Given the description of an element on the screen output the (x, y) to click on. 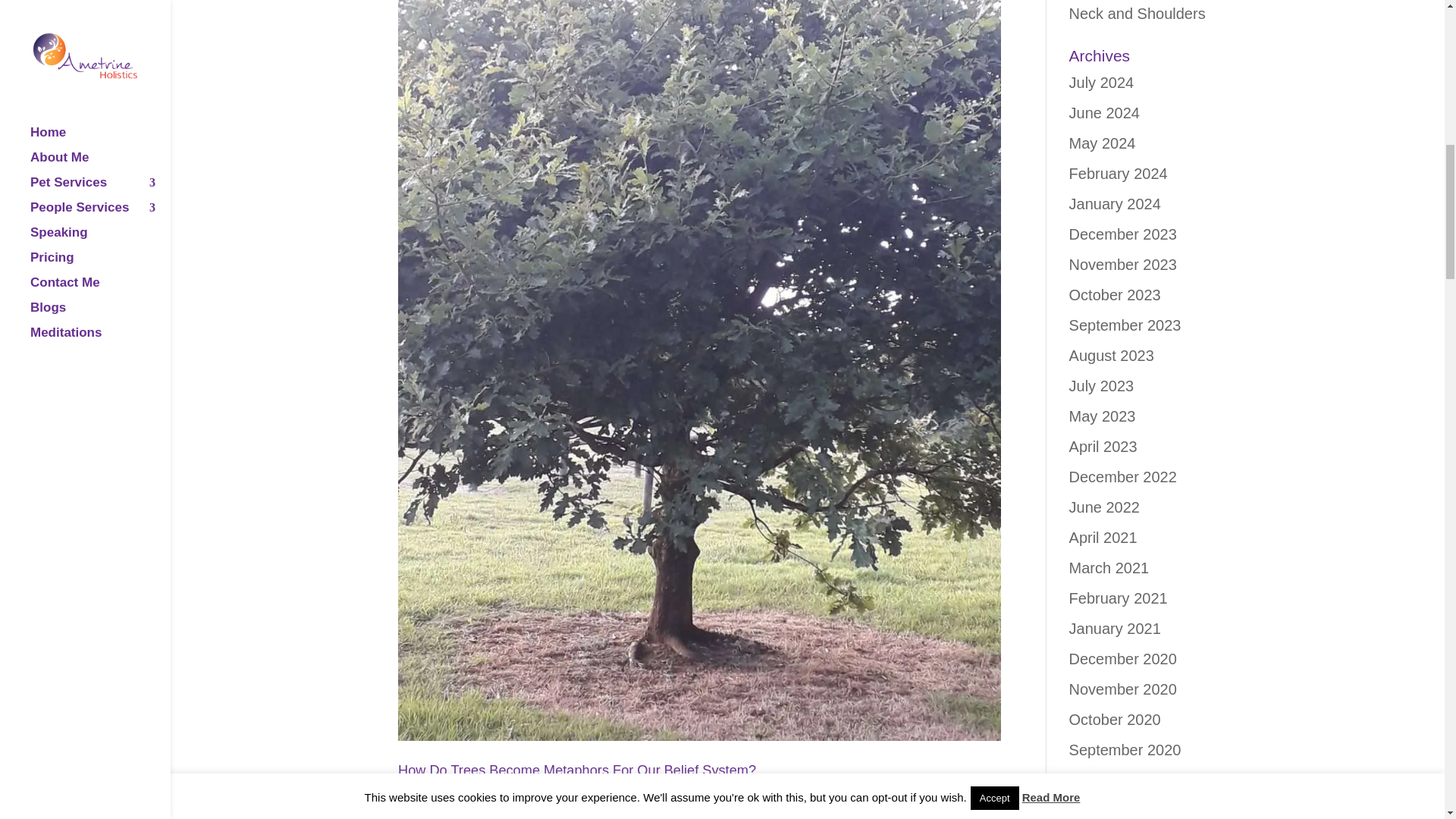
Posts by Victoria Smith-Gillard (443, 795)
